Given the description of an element on the screen output the (x, y) to click on. 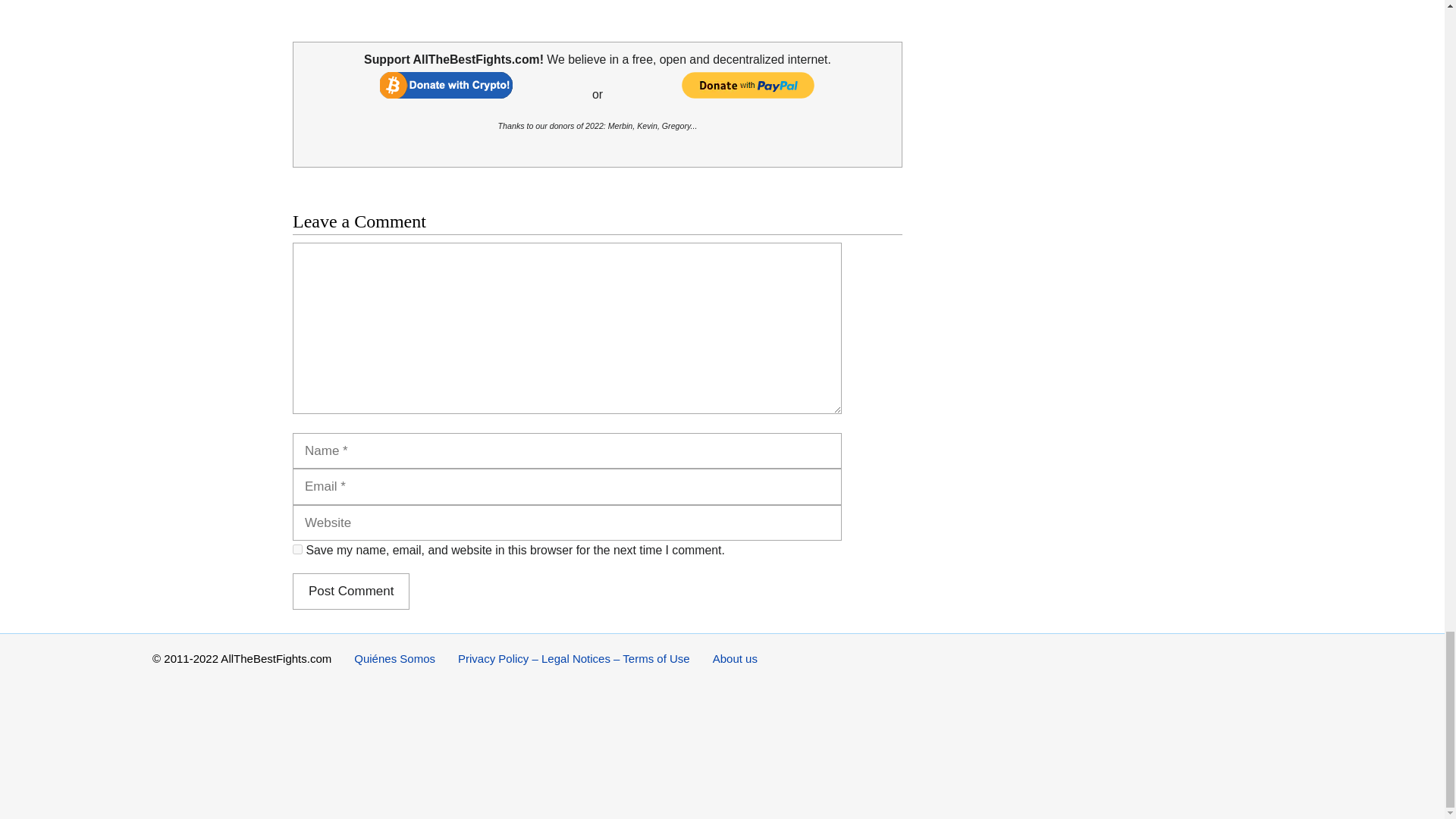
yes (297, 549)
Post Comment (350, 591)
